Given the description of an element on the screen output the (x, y) to click on. 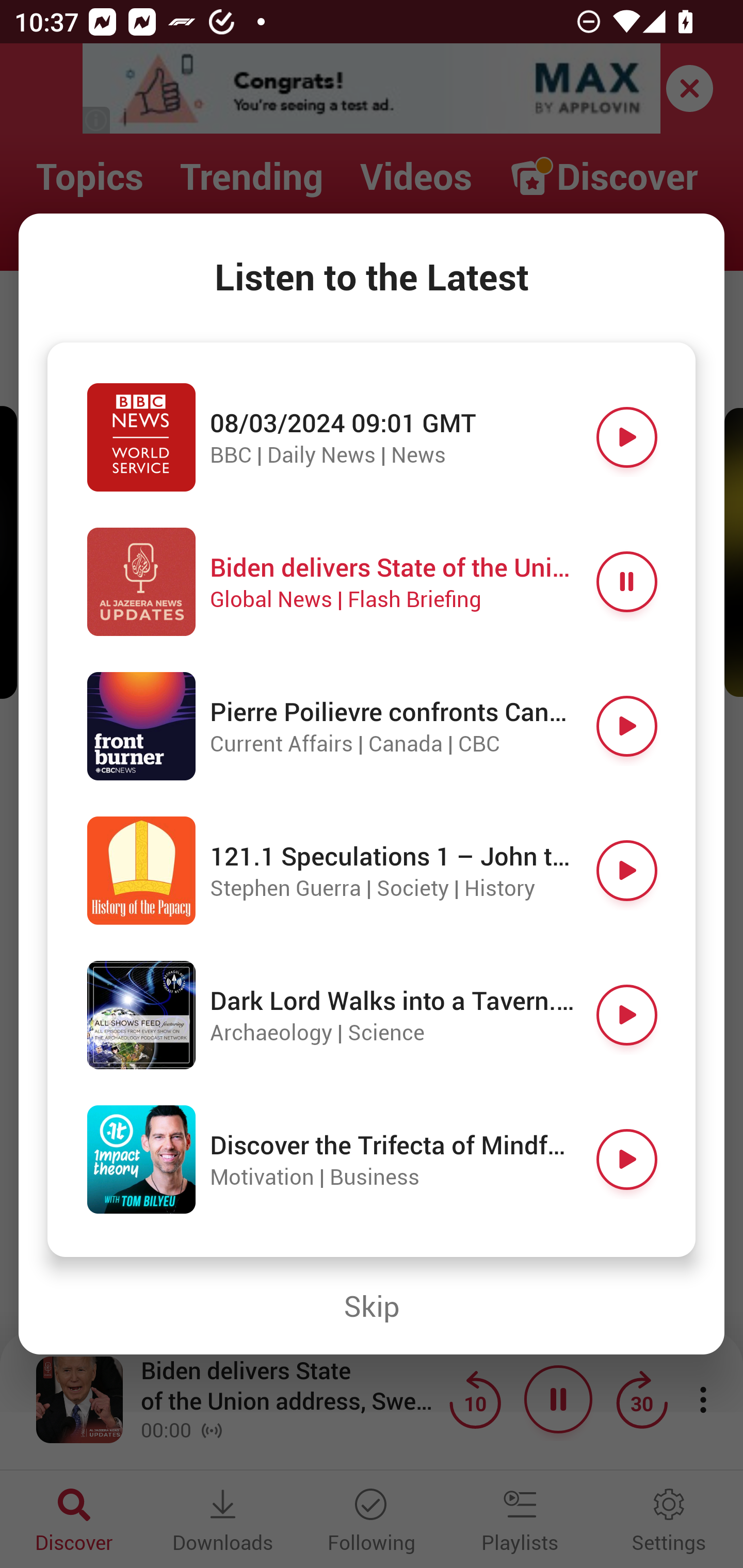
Skip (371, 1305)
